Given the description of an element on the screen output the (x, y) to click on. 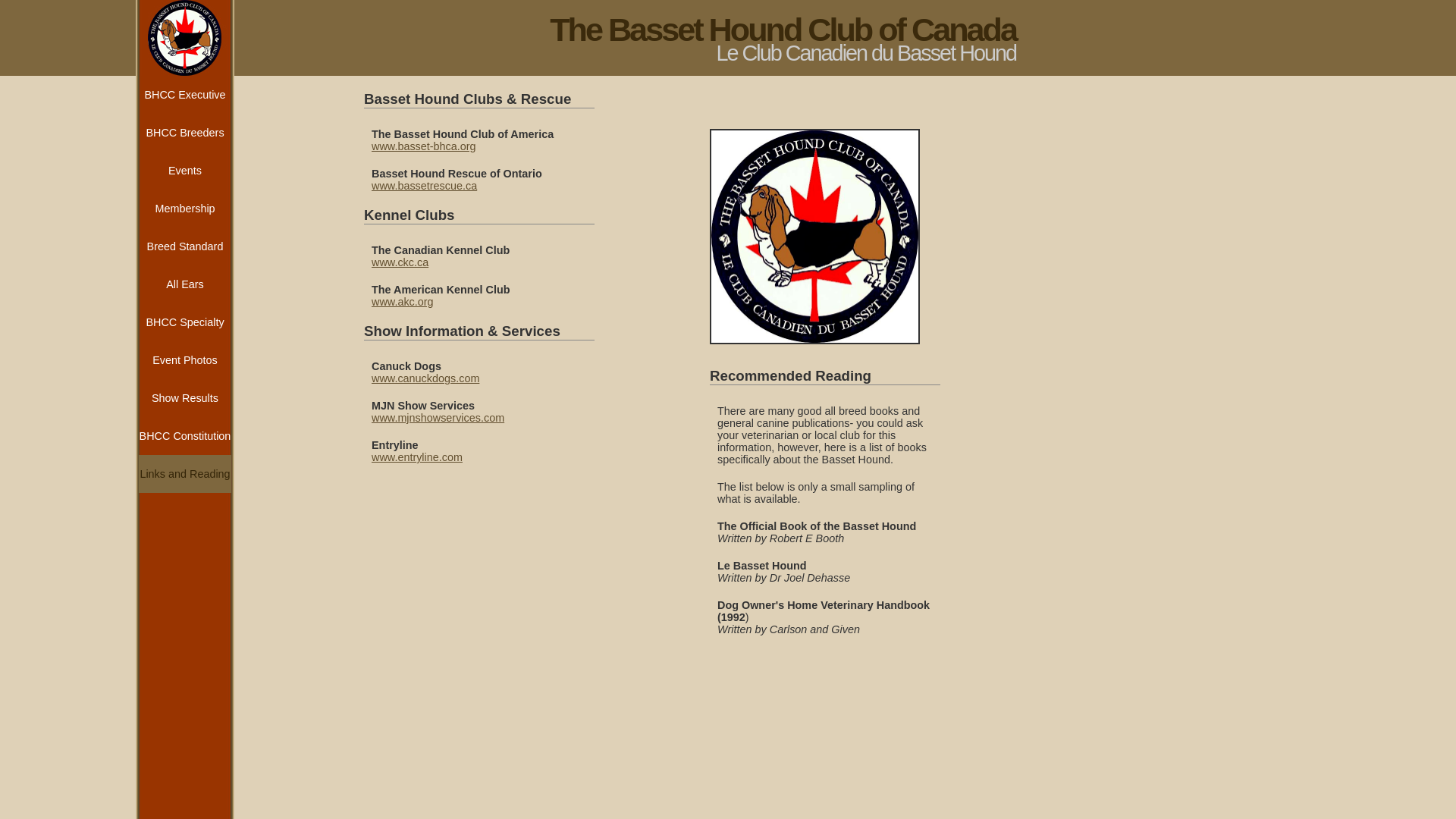
BHCC Specialty Element type: text (184, 322)
Membership Element type: text (184, 208)
www.canuckdogs.com Element type: text (425, 378)
www.basset-bhca.org Element type: text (423, 146)
BHCC Executive Element type: text (184, 94)
Breed Standard Element type: text (184, 246)
Show Results Element type: text (184, 398)
www.bassetrescue.ca Element type: text (423, 185)
Links and Reading Element type: text (184, 473)
All Ears Element type: text (184, 284)
BHCC Breeders Element type: text (184, 132)
www.ckc.ca Element type: text (399, 262)
www.mjnshowservices.com Element type: text (437, 417)
Event Photos Element type: text (184, 360)
BHCC Constitution Element type: text (184, 436)
Events Element type: text (184, 170)
www.akc.org Element type: text (402, 301)
www.entryline.com Element type: text (416, 457)
